Given the description of an element on the screen output the (x, y) to click on. 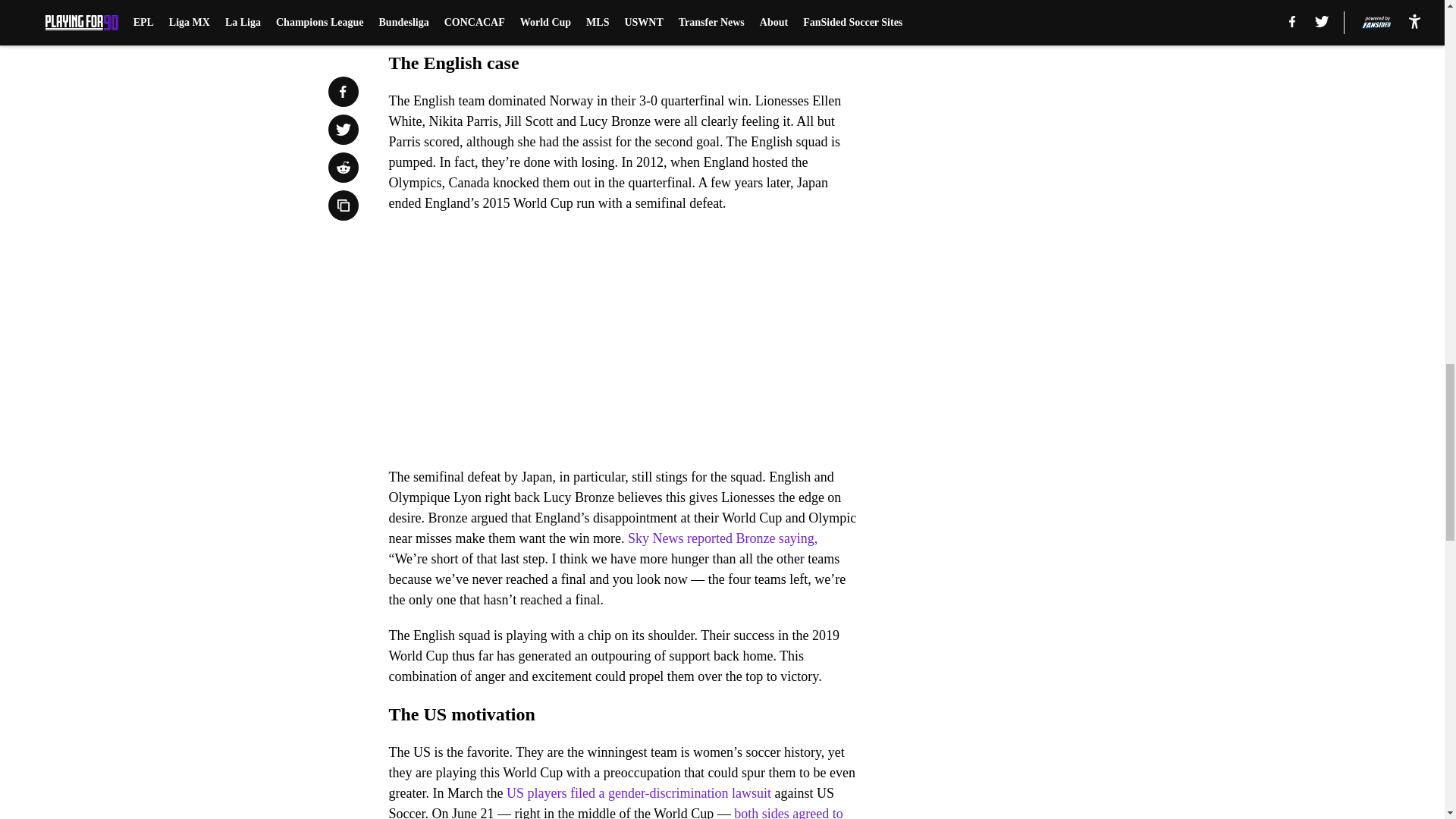
US players filed a gender-discrimination lawsuit (638, 792)
both sides agreed to mediate the suit. (615, 812)
Sky News reported Bronze saying, (720, 538)
